Given the description of an element on the screen output the (x, y) to click on. 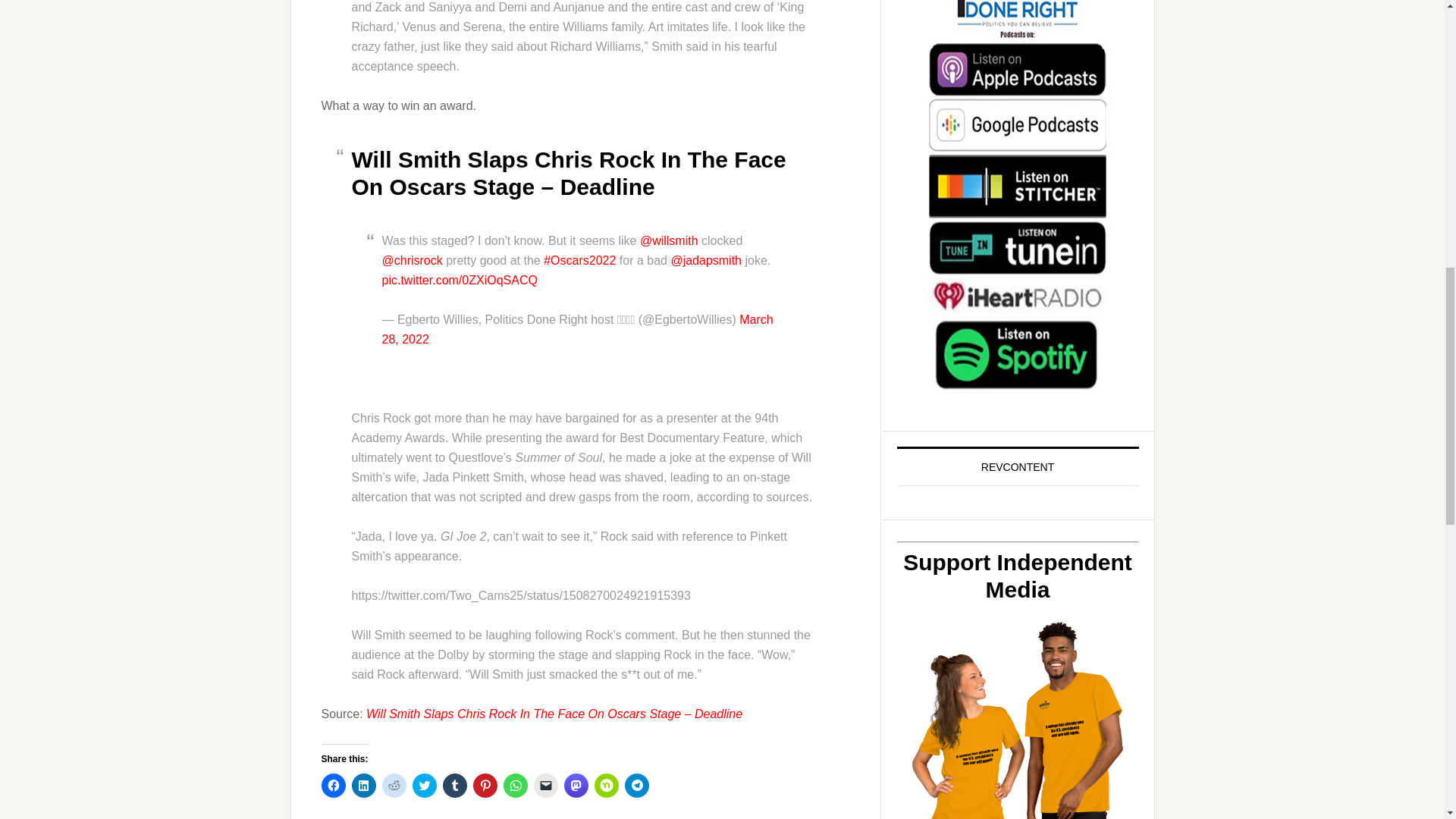
Click to share on Reddit (393, 785)
Click to share on LinkedIn (363, 785)
Click to share on Tumblr (454, 785)
Click to share on Facebook (333, 785)
Click to share on Pinterest (485, 785)
Click to share on Mastodon (576, 785)
Click to email a link to a friend (545, 785)
Click to share on Nextdoor (606, 785)
Click to share on Twitter (424, 785)
Click to share on WhatsApp (515, 785)
